Given the description of an element on the screen output the (x, y) to click on. 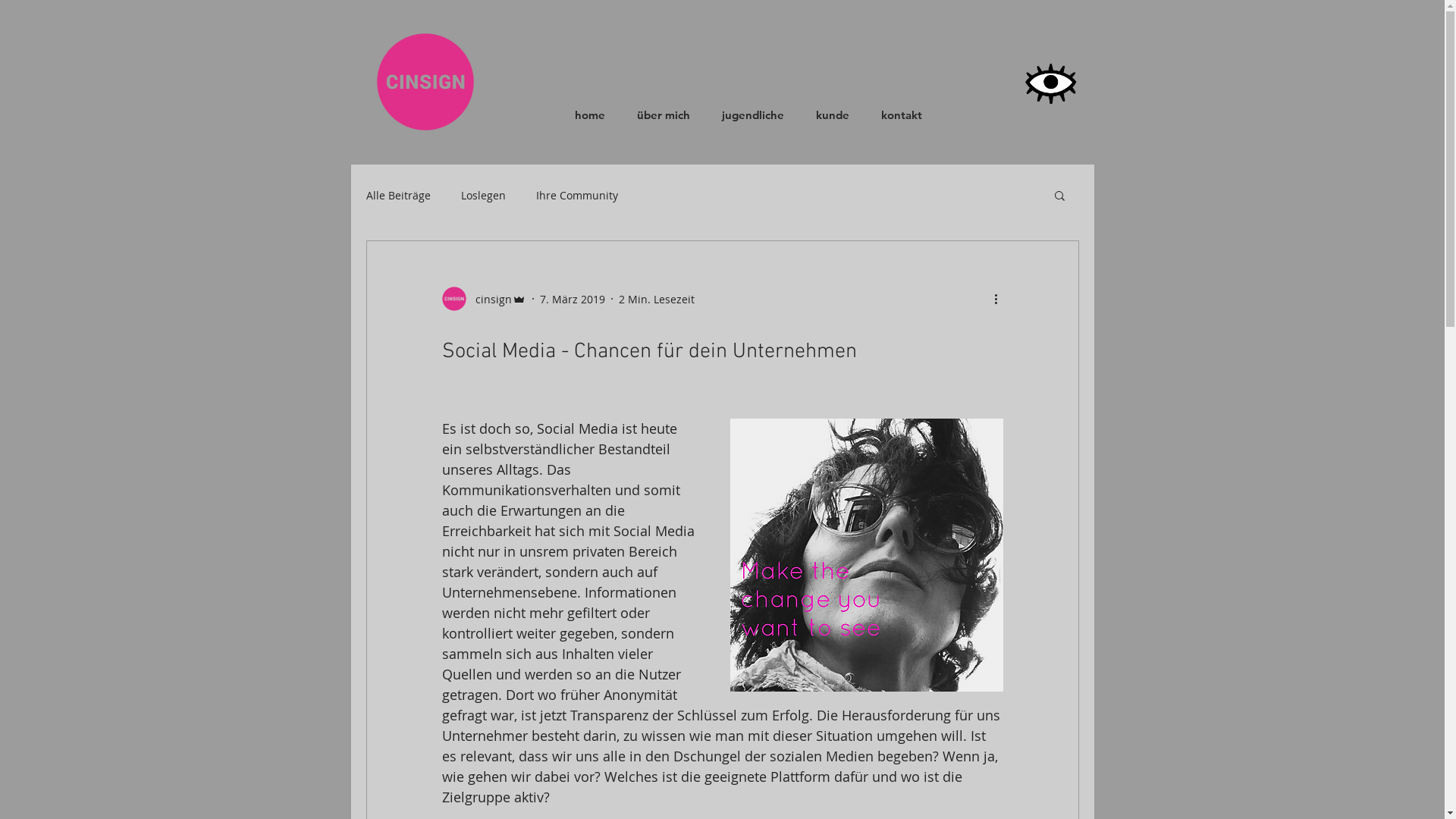
Loslegen Element type: text (483, 195)
kontakt Element type: text (900, 115)
home Element type: text (589, 115)
Ihre Community Element type: text (576, 195)
jugendliche Element type: text (752, 115)
kunde Element type: text (831, 115)
cinsign Element type: text (483, 298)
